Given the description of an element on the screen output the (x, y) to click on. 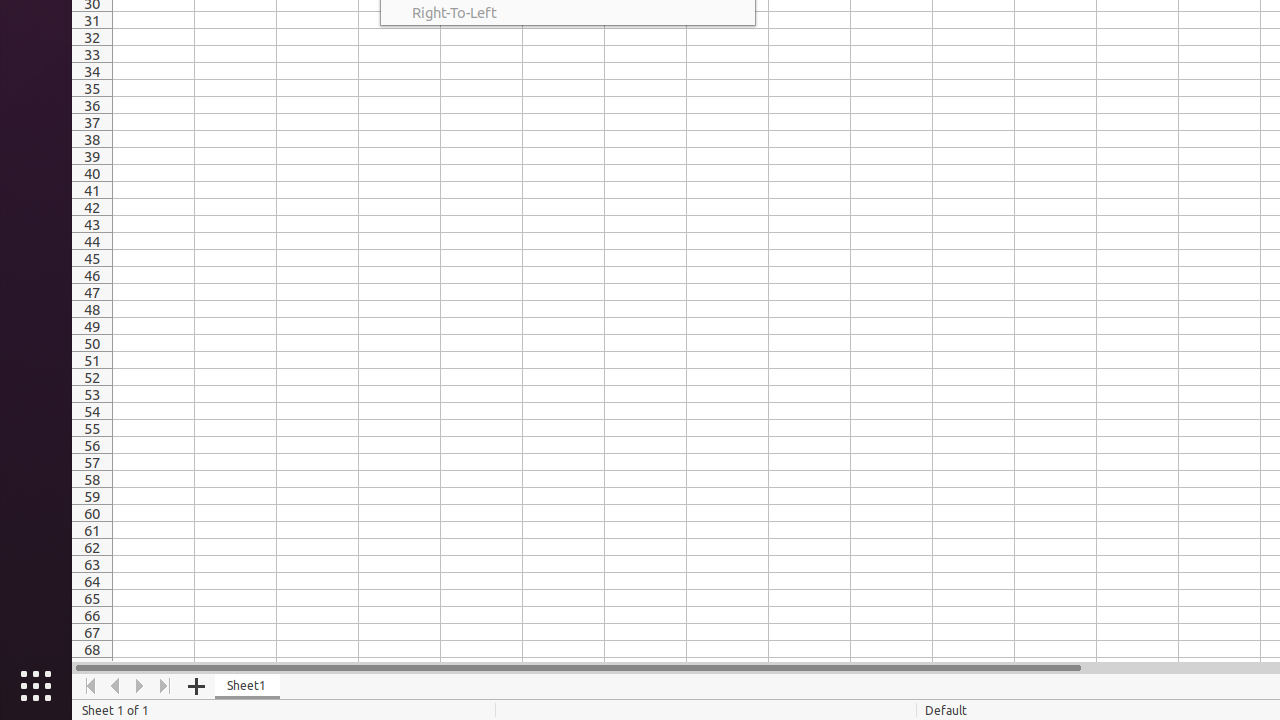
Move Left Element type: push-button (115, 686)
Move To End Element type: push-button (165, 686)
